Given the description of an element on the screen output the (x, y) to click on. 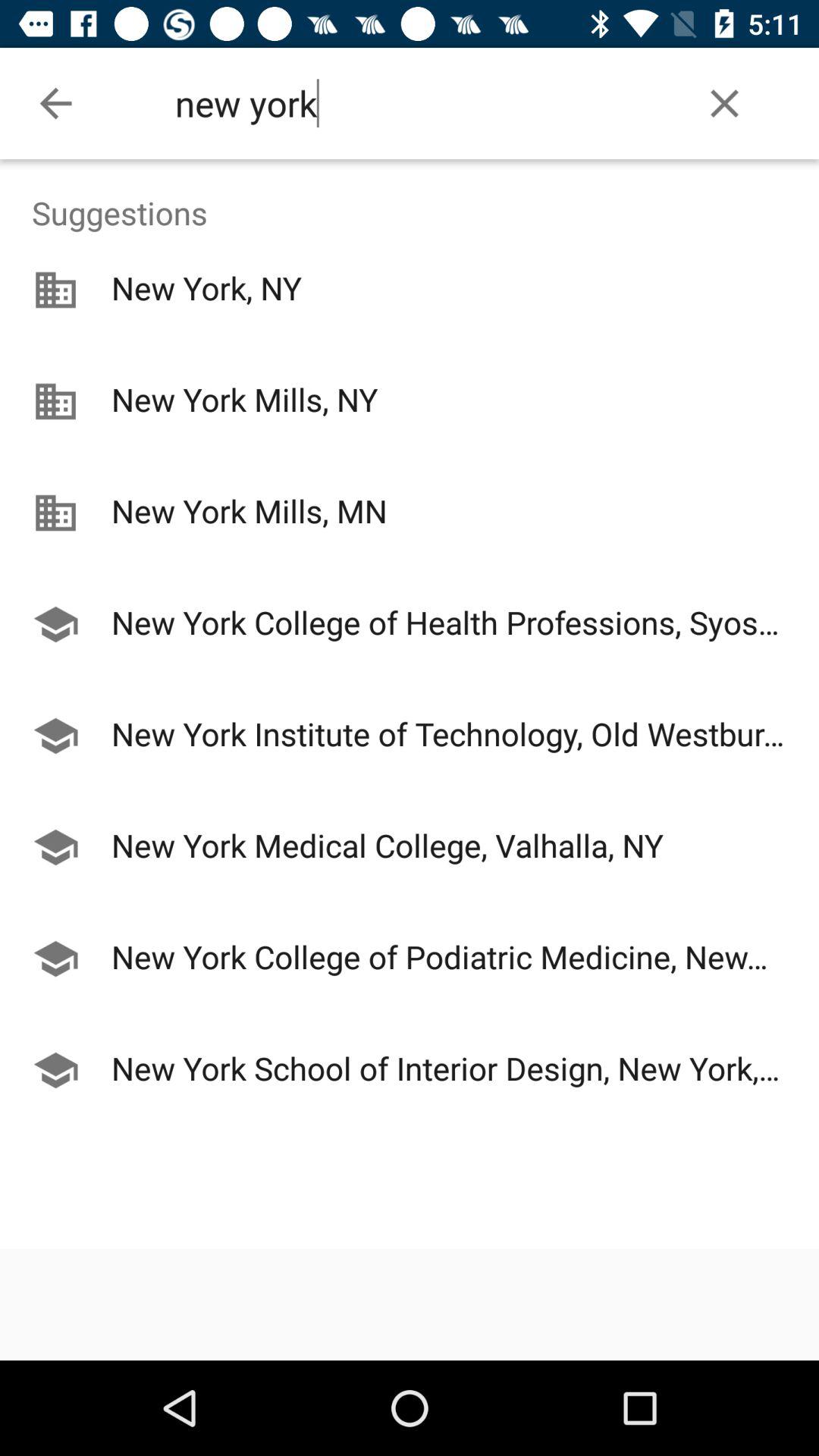
choose icon below suggestions icon (409, 569)
